Given the description of an element on the screen output the (x, y) to click on. 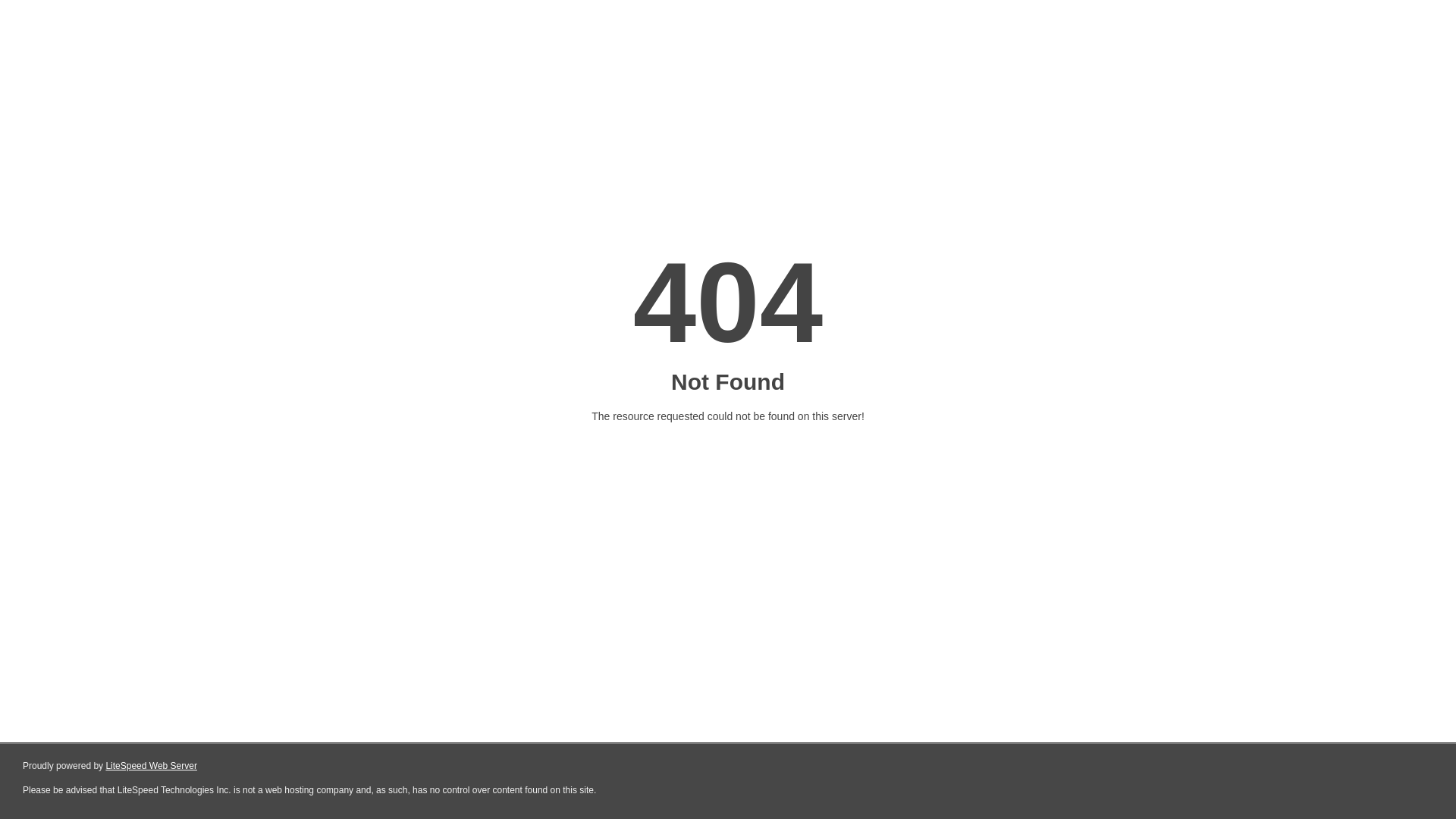
LiteSpeed Web Server Element type: text (151, 765)
